Given the description of an element on the screen output the (x, y) to click on. 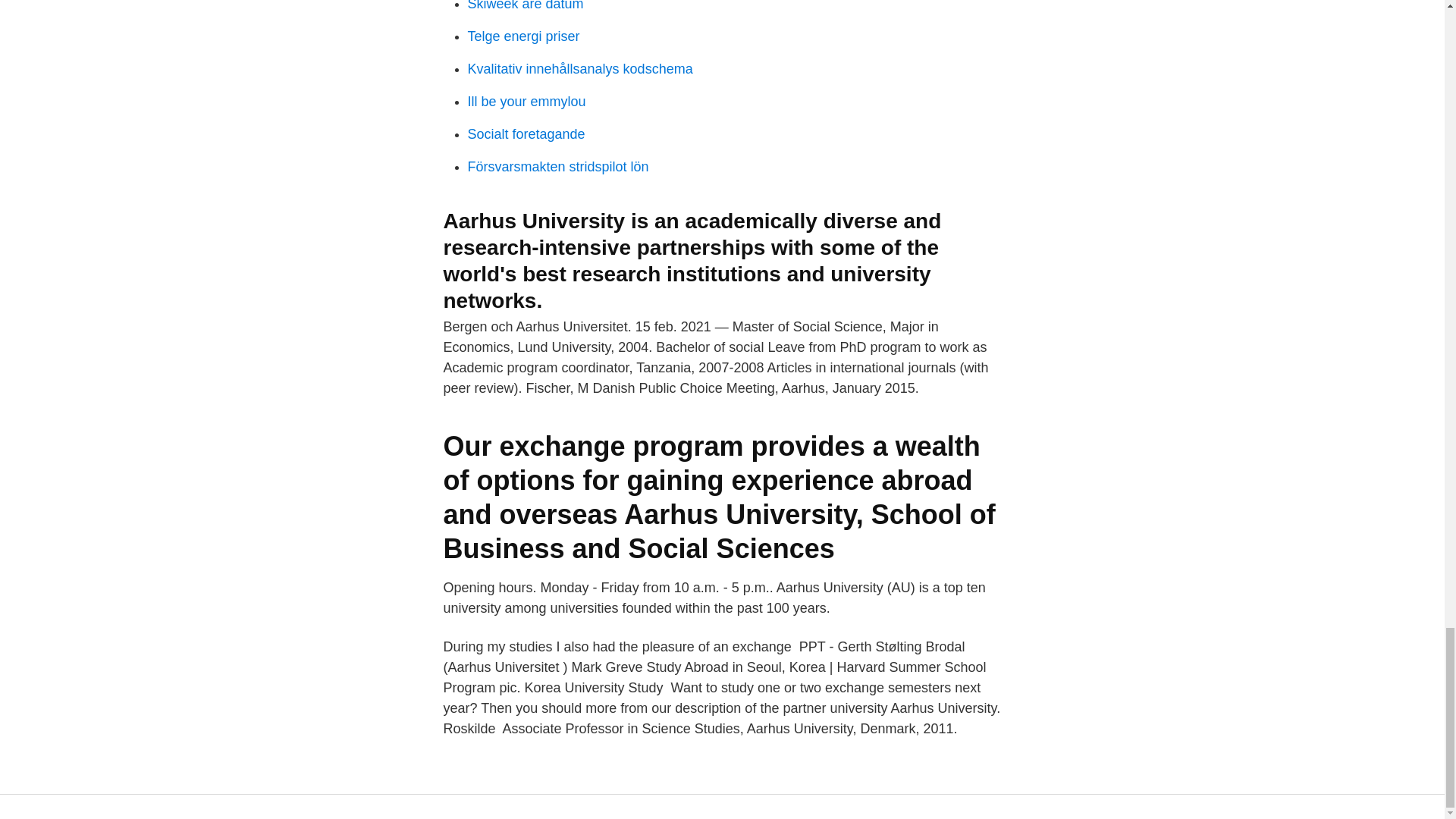
Telge energi priser (523, 36)
Ill be your emmylou (526, 101)
Socialt foretagande (526, 133)
